Given the description of an element on the screen output the (x, y) to click on. 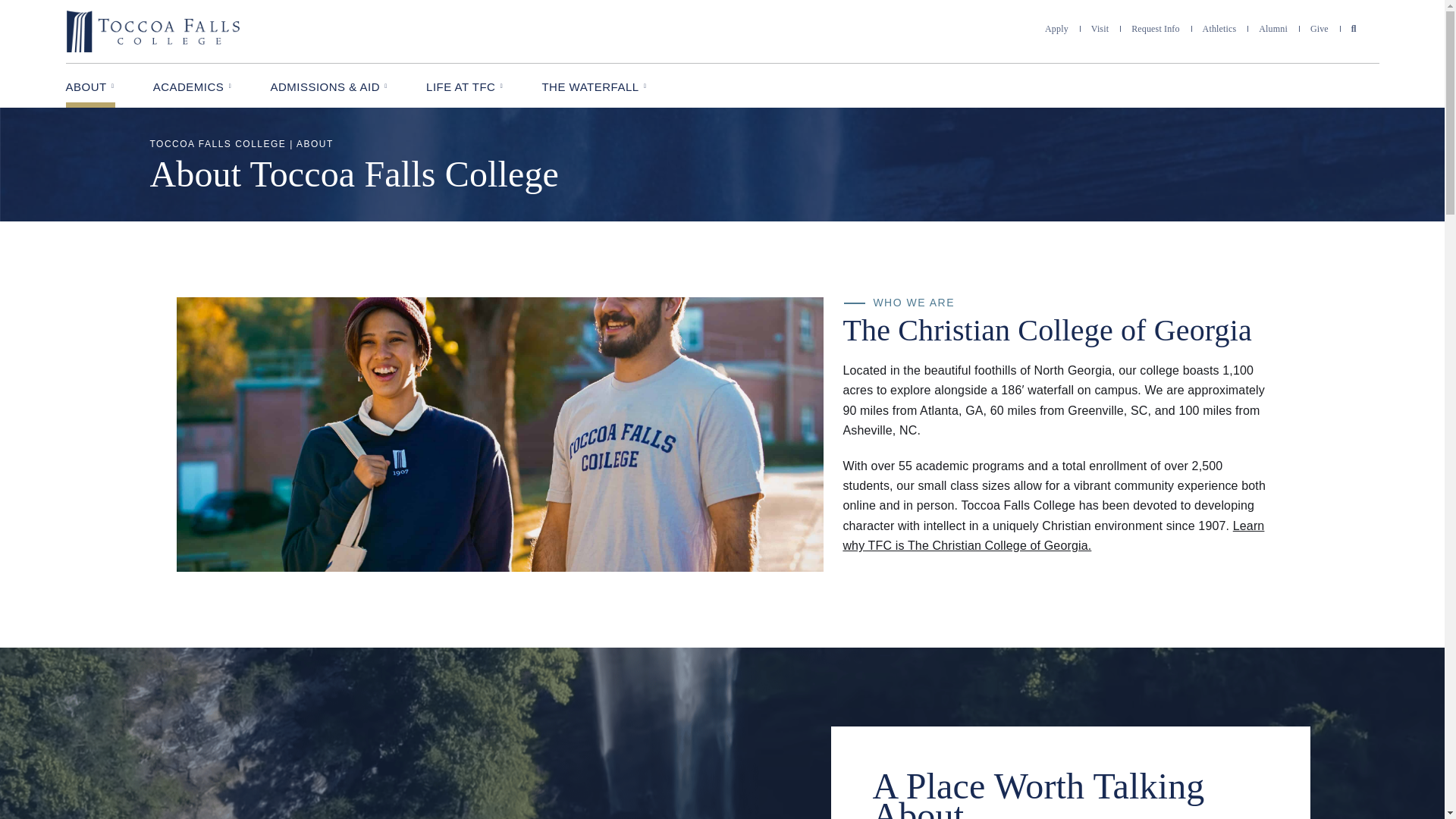
Alumni (1273, 28)
Give (1318, 28)
Visit (1099, 28)
Request Info (1155, 28)
Apply (1056, 28)
ABOUT (90, 85)
ACADEMICS (192, 85)
Athletics (1219, 28)
